Given the description of an element on the screen output the (x, y) to click on. 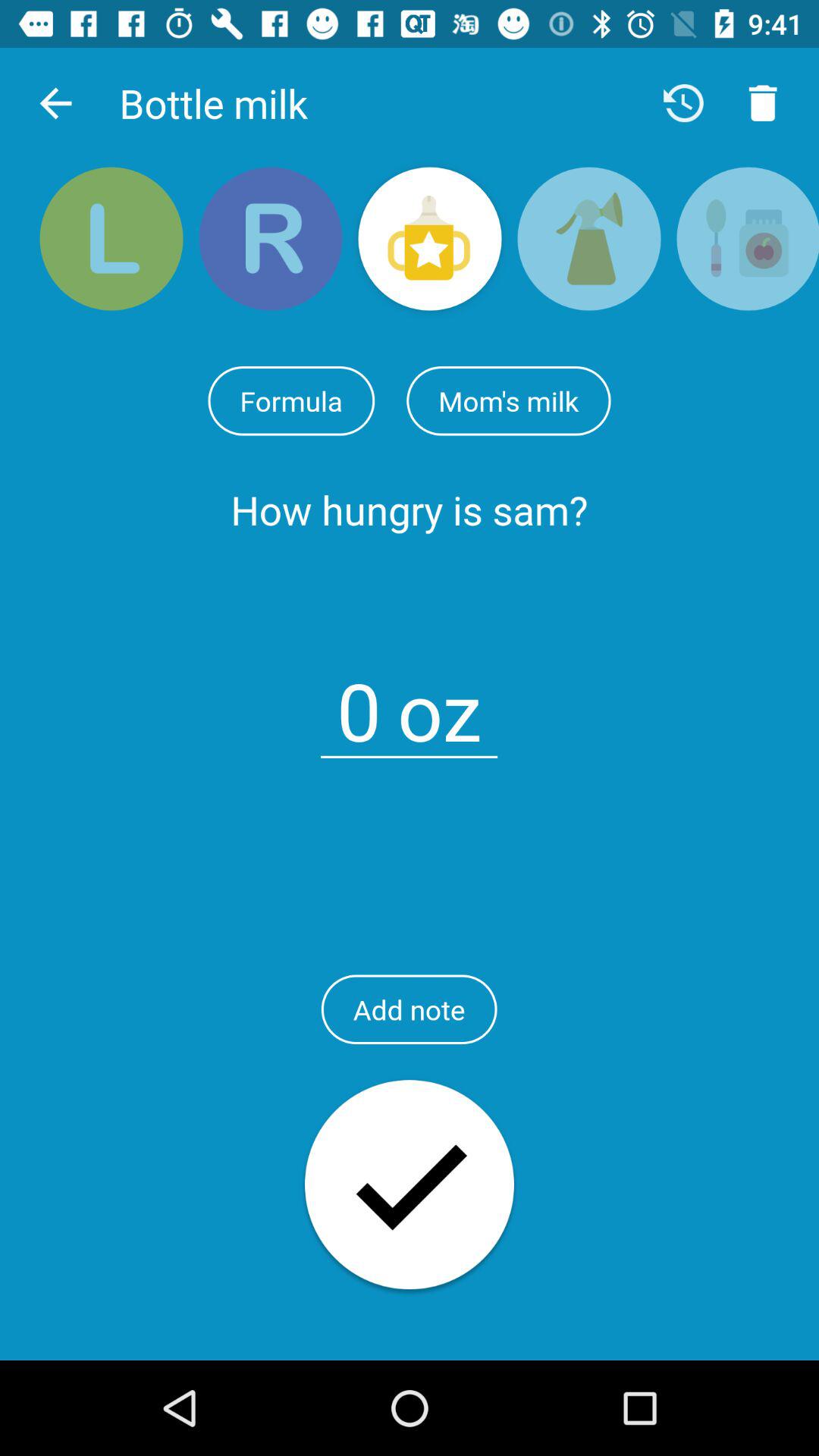
turn off item above the how hungry is (508, 400)
